Given the description of an element on the screen output the (x, y) to click on. 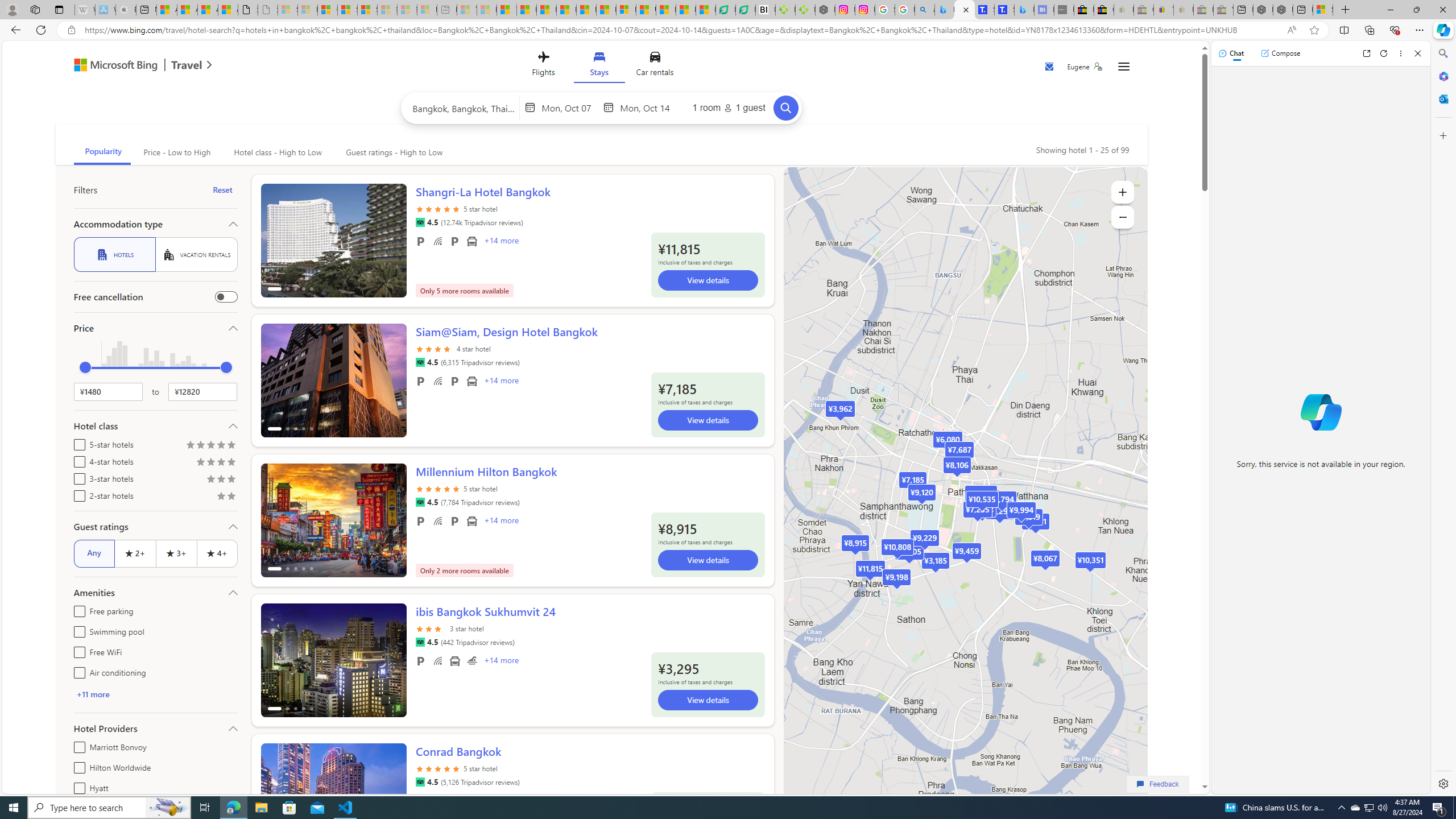
+11 more (154, 694)
Microsoft Bing (110, 65)
4-star hotels (76, 459)
HOTELS (113, 254)
VACATION RENTALS (196, 254)
Hotel class (154, 425)
Airport transportation (454, 660)
Stays (598, 65)
Descarga Driver Updater (804, 9)
Customize (1442, 135)
Nordace - Nordace Edin Collection (825, 9)
Compose (1280, 52)
